Given the description of an element on the screen output the (x, y) to click on. 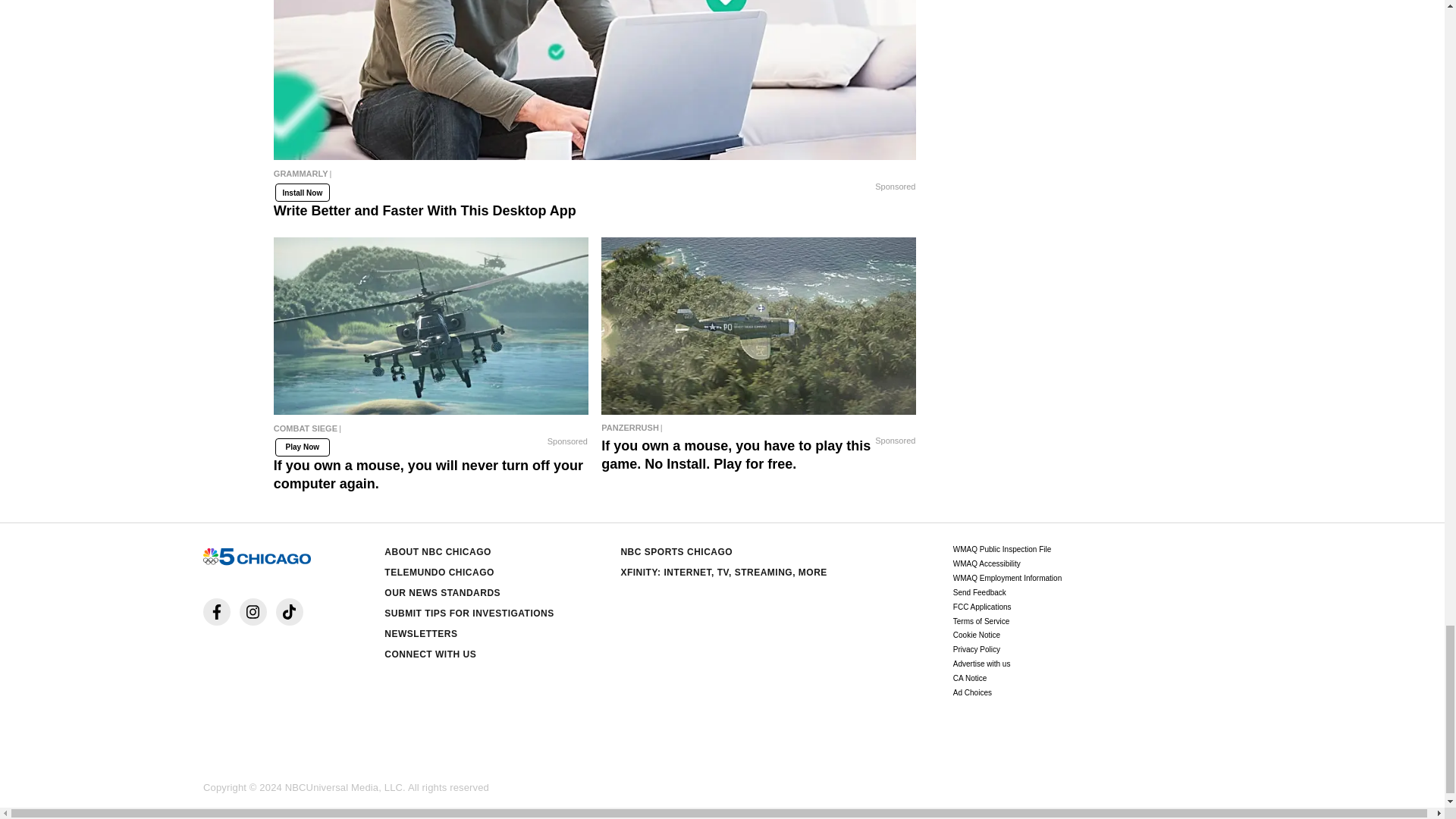
Write Better and Faster With This Desktop App (595, 176)
